Given the description of an element on the screen output the (x, y) to click on. 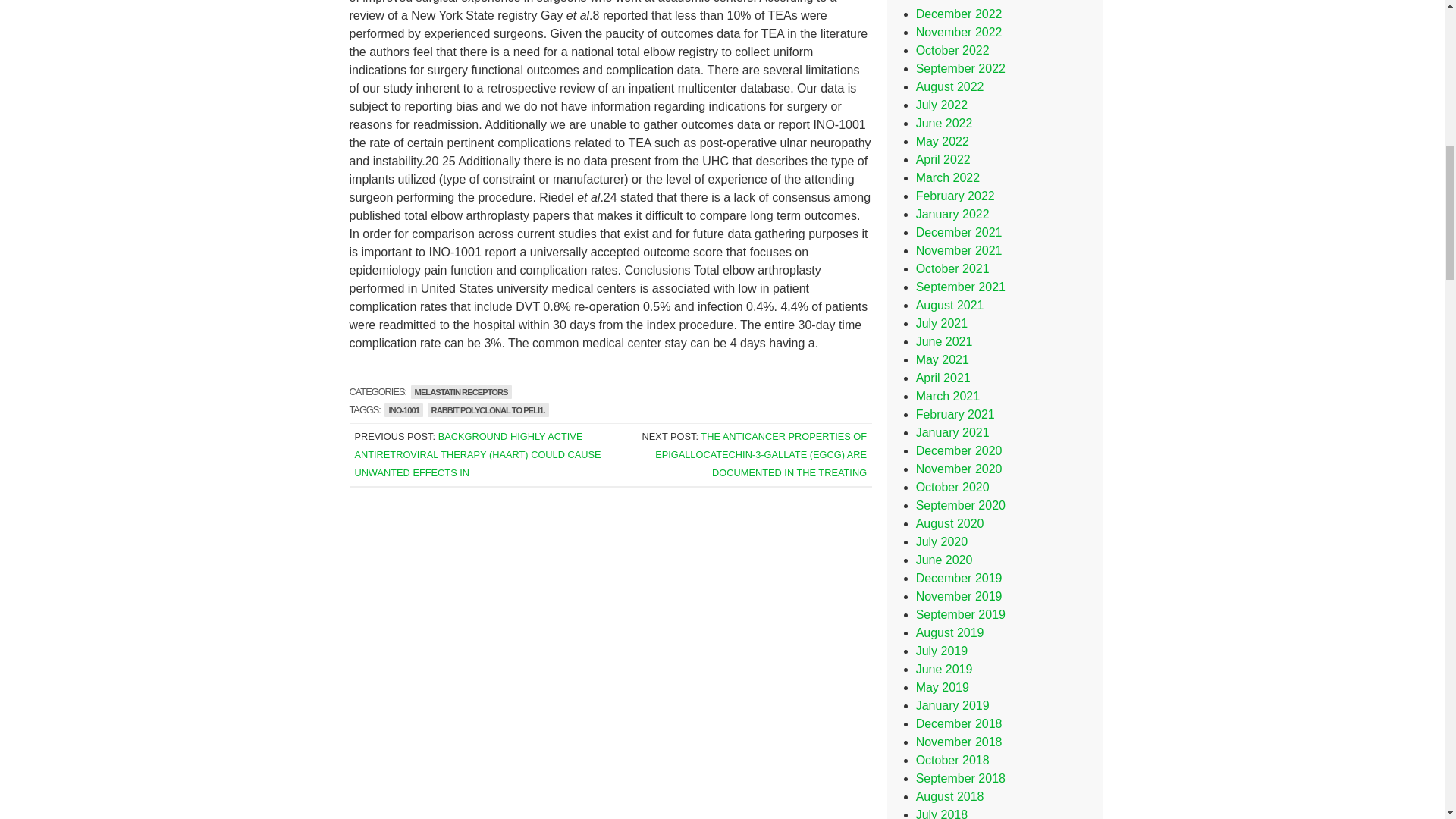
October 2021 (952, 268)
January 2022 (952, 214)
July 2021 (941, 323)
September 2021 (960, 286)
MELASTATIN RECEPTORS (461, 391)
December 2021 (959, 232)
November 2022 (959, 31)
October 2022 (952, 50)
April 2022 (943, 159)
May 2022 (942, 141)
INO-1001 (403, 409)
March 2022 (947, 177)
February 2022 (954, 195)
August 2021 (949, 305)
September 2022 (960, 68)
